Given the description of an element on the screen output the (x, y) to click on. 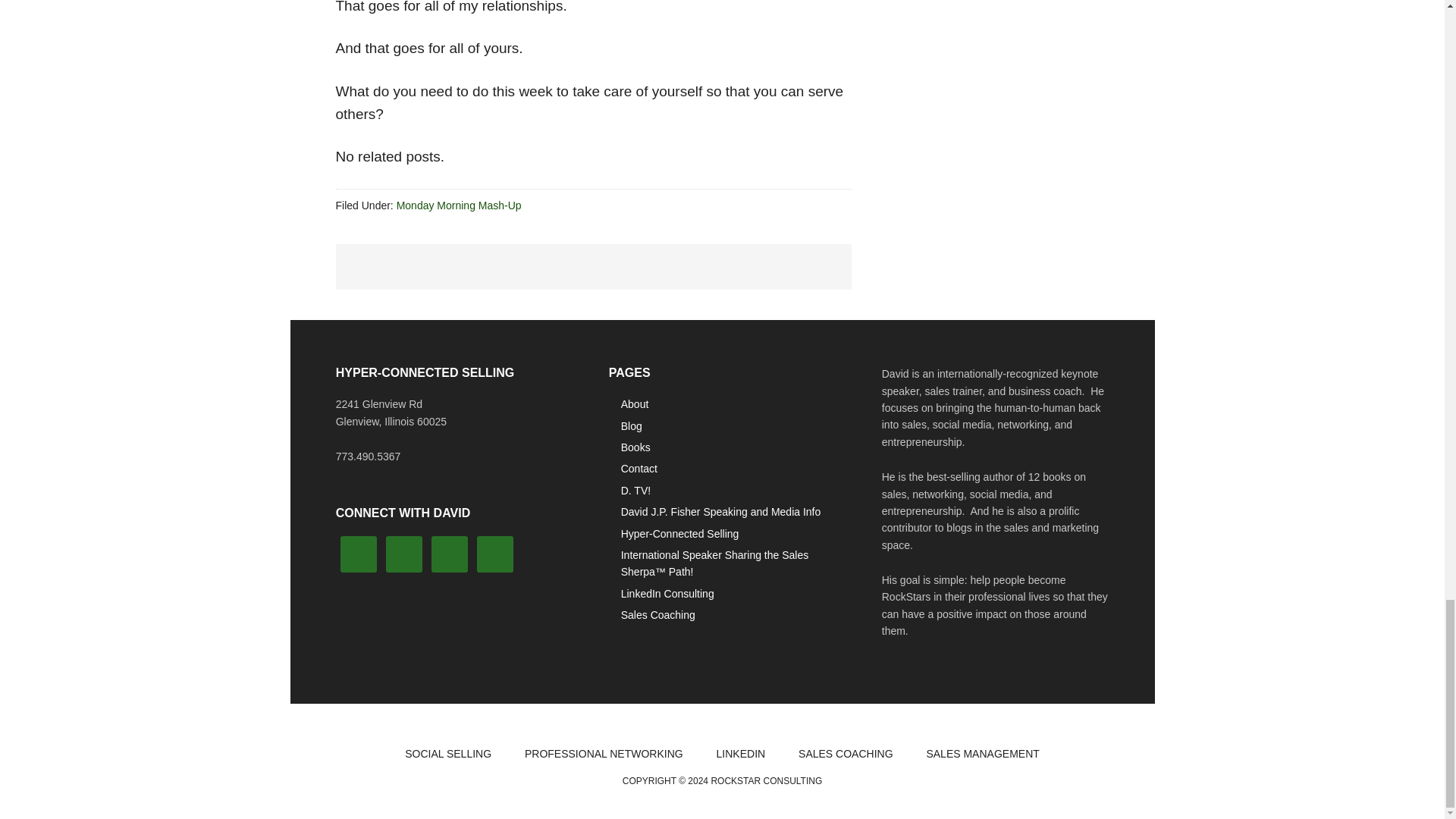
PROFESSIONAL NETWORKING (603, 753)
Blog (631, 426)
D. TV! (635, 490)
David J.P. Fisher Speaking and Media Info (721, 511)
Books (635, 447)
SOCIAL SELLING (448, 753)
LinkedIn Consulting (667, 593)
Hyper-Connected Selling (680, 533)
Sales Coaching (658, 614)
SALES MANAGEMENT (982, 753)
About (635, 404)
SALES COACHING (845, 753)
Monday Morning Mash-Up (458, 205)
LINKEDIN (740, 753)
Contact (639, 468)
